Given the description of an element on the screen output the (x, y) to click on. 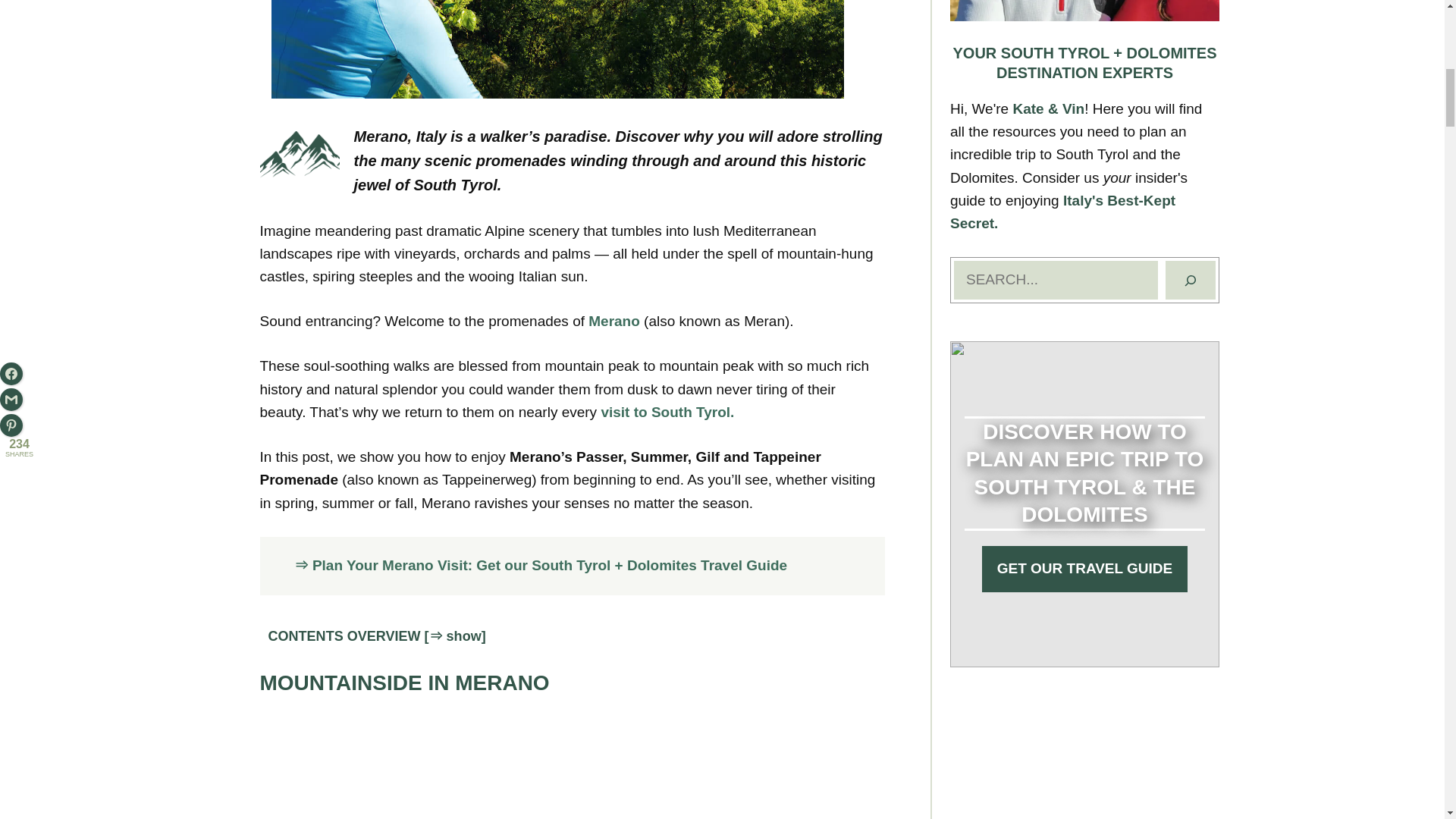
Merano (614, 320)
visit to South Tyrol. (666, 412)
